Given the description of an element on the screen output the (x, y) to click on. 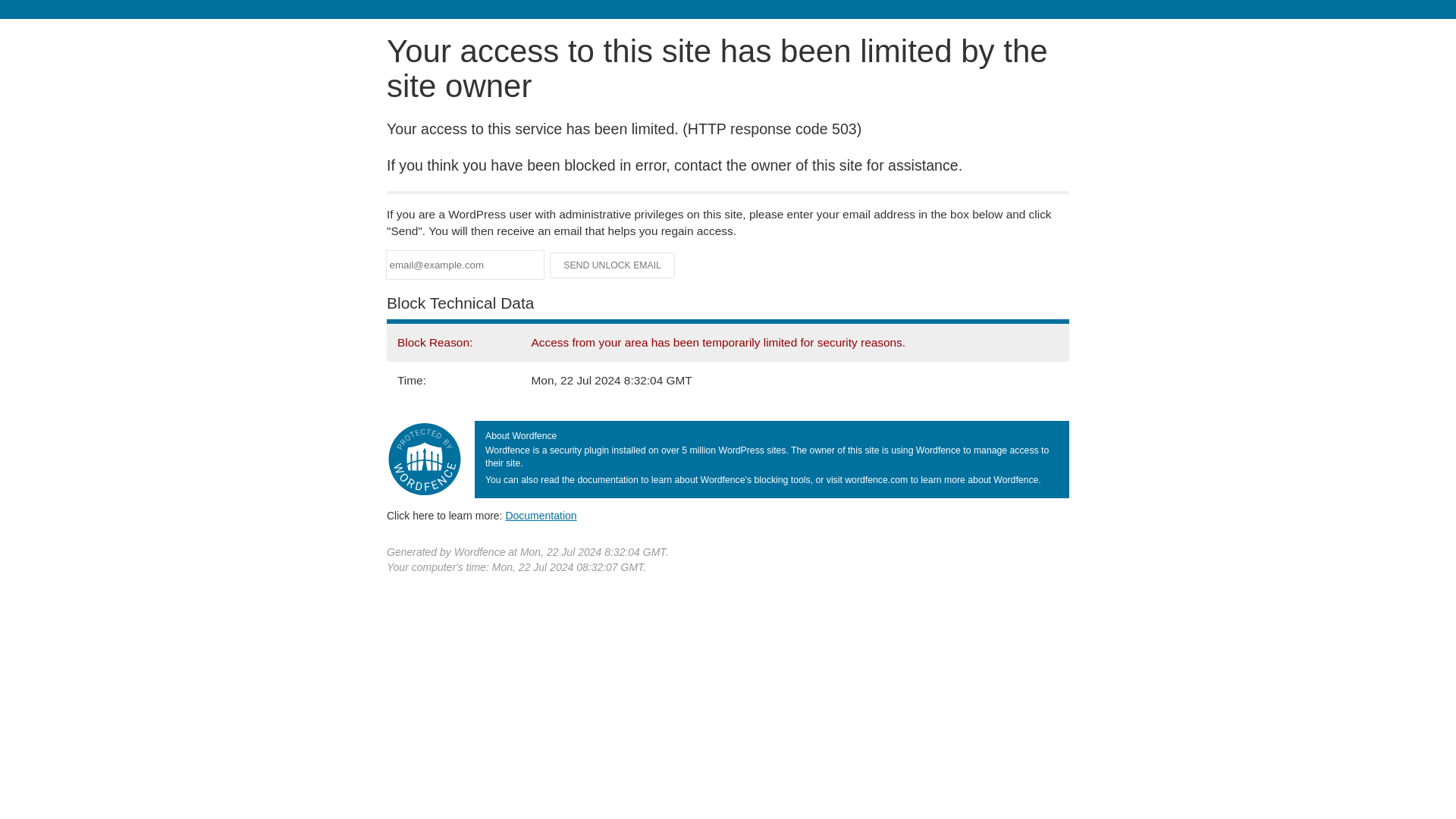
Send Unlock Email (612, 265)
Send Unlock Email (612, 265)
Documentation (540, 515)
